Given the description of an element on the screen output the (x, y) to click on. 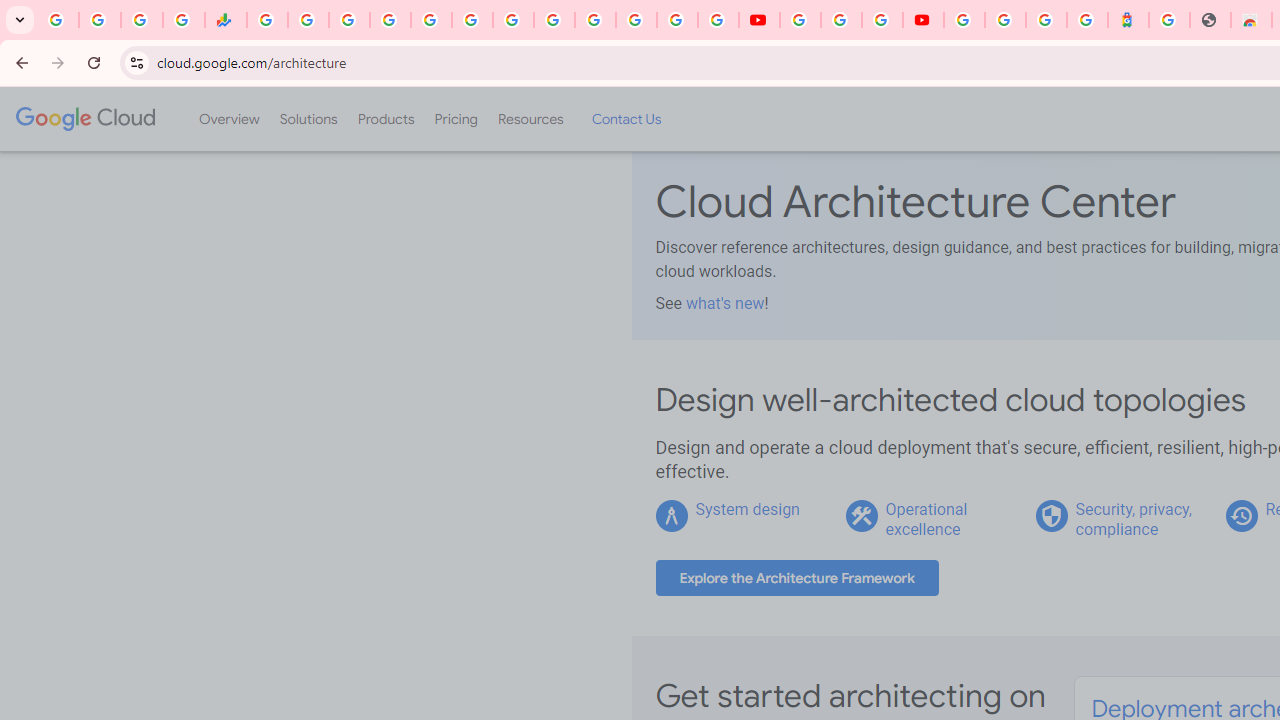
YouTube (553, 20)
what's new (724, 303)
Sign in - Google Accounts (964, 20)
Sign in - Google Accounts (1005, 20)
Atour Hotel - Google hotels (1128, 20)
Products (385, 119)
Sign in - Google Accounts (594, 20)
Privacy Checkup (717, 20)
System design (747, 509)
Explore the Architecture Framework (797, 578)
Android TV Policies and Guidelines - Transparency Center (512, 20)
